Given the description of an element on the screen output the (x, y) to click on. 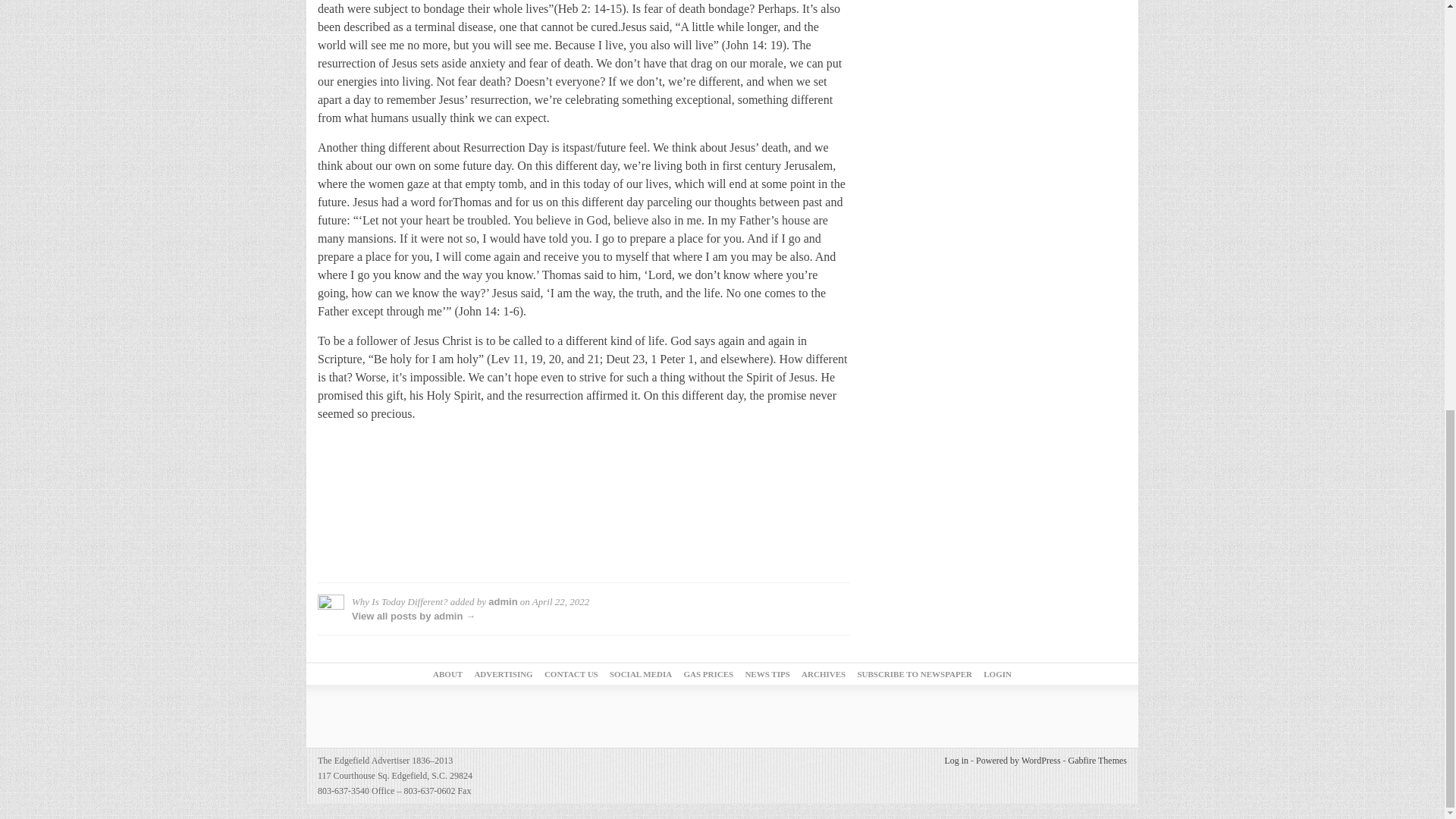
ADVERTISING (503, 673)
Semantic Personal Publishing Platform (1017, 760)
admin (501, 601)
SOCIAL MEDIA (640, 673)
SUBSCRIBE TO NEWSPAPER (914, 673)
WordPress Newspaper Themes (1097, 760)
GAS PRICES (707, 673)
ARCHIVES (823, 673)
NEWS TIPS (766, 673)
LOGIN (997, 673)
